Given the description of an element on the screen output the (x, y) to click on. 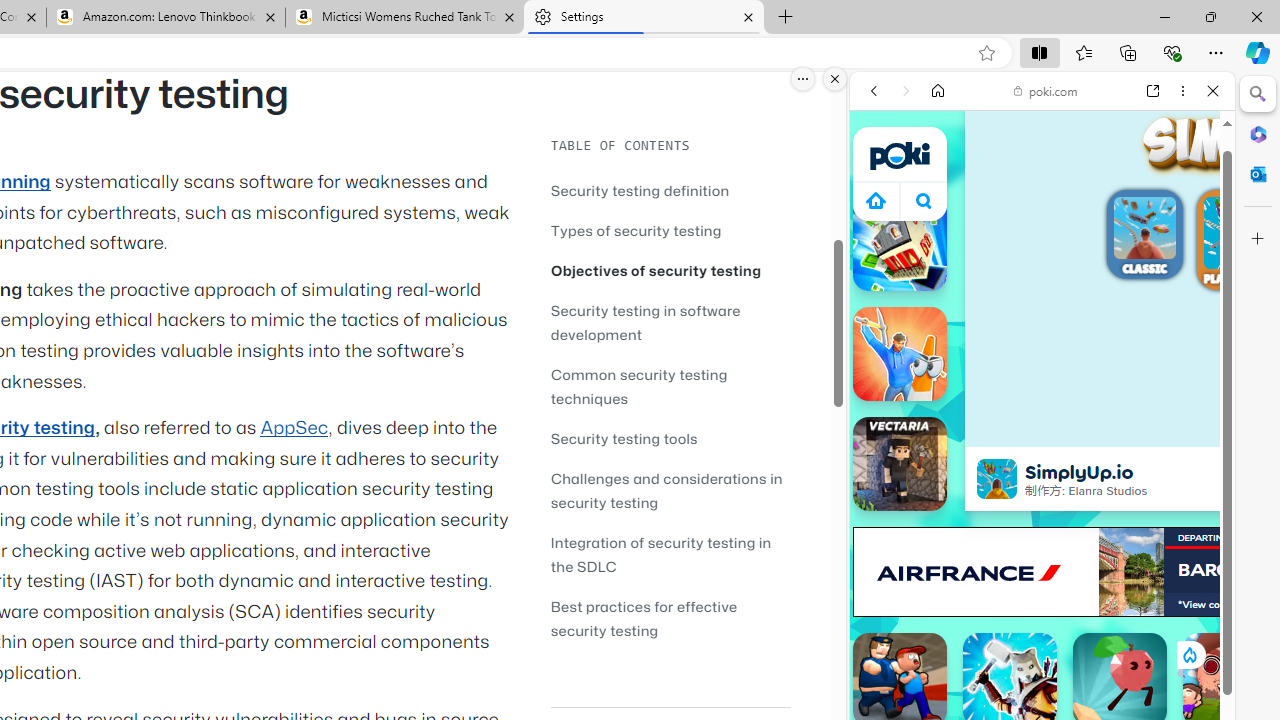
AppSec (293, 428)
Show More Shooting Games (1164, 521)
Poki - Free Online Games - Play Now! (1034, 309)
Car Games (1042, 469)
Types of security testing (635, 230)
Vectaria.io Vectaria.io (899, 463)
Stack City Stack City (899, 243)
Best practices for effective security testing (670, 618)
CLASSIC (1144, 237)
Types of security testing (670, 230)
This site scope (936, 180)
Challenges and considerations in security testing (666, 490)
